Given the description of an element on the screen output the (x, y) to click on. 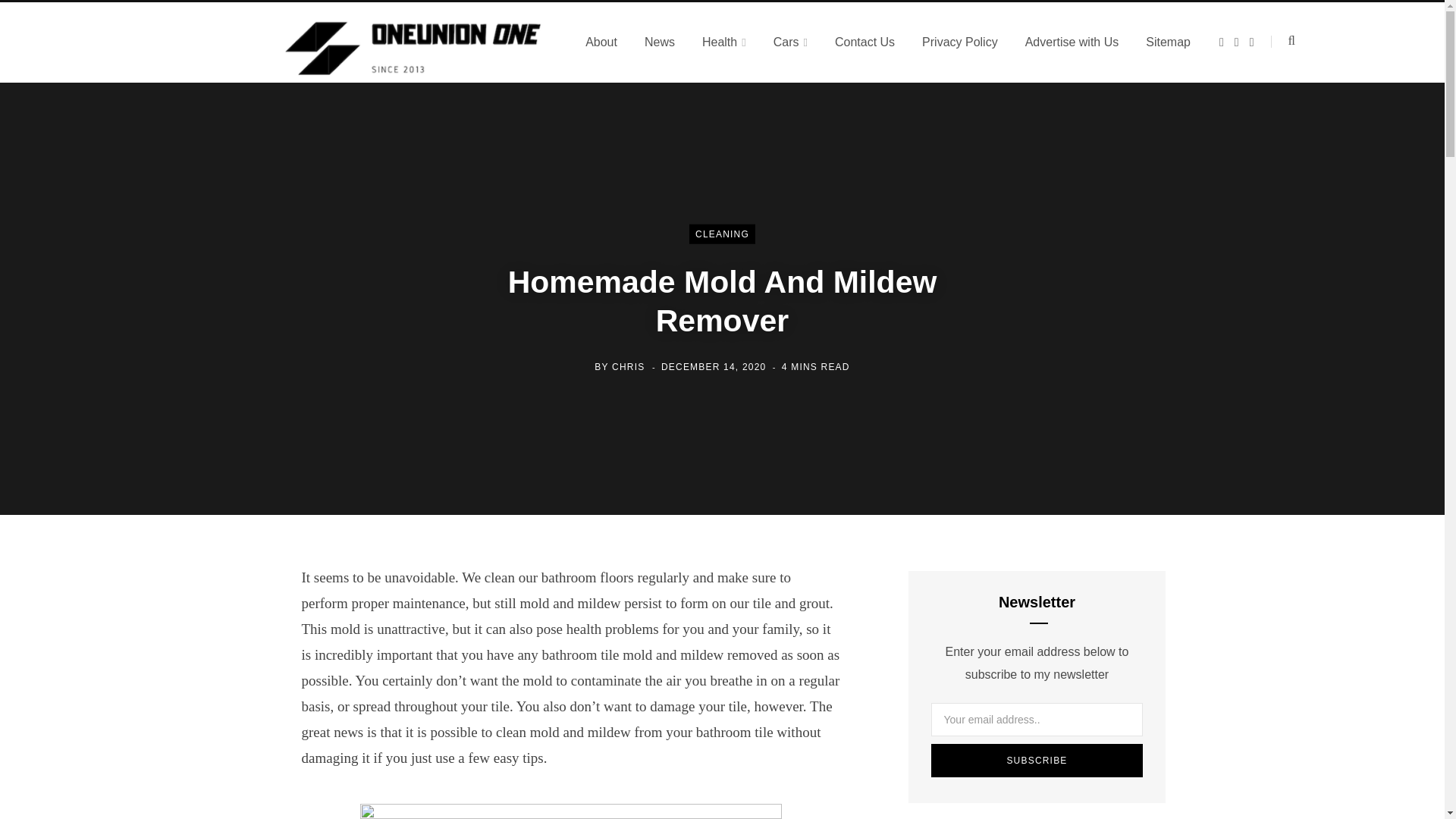
Search (1283, 41)
Subscribe (1036, 760)
About (601, 41)
Sitemap (1168, 41)
Advertise with Us (1071, 41)
1 Union 1 (414, 42)
Privacy Policy (959, 41)
CHRIS (628, 366)
Contact Us (864, 41)
Posts by Chris (628, 366)
